Given the description of an element on the screen output the (x, y) to click on. 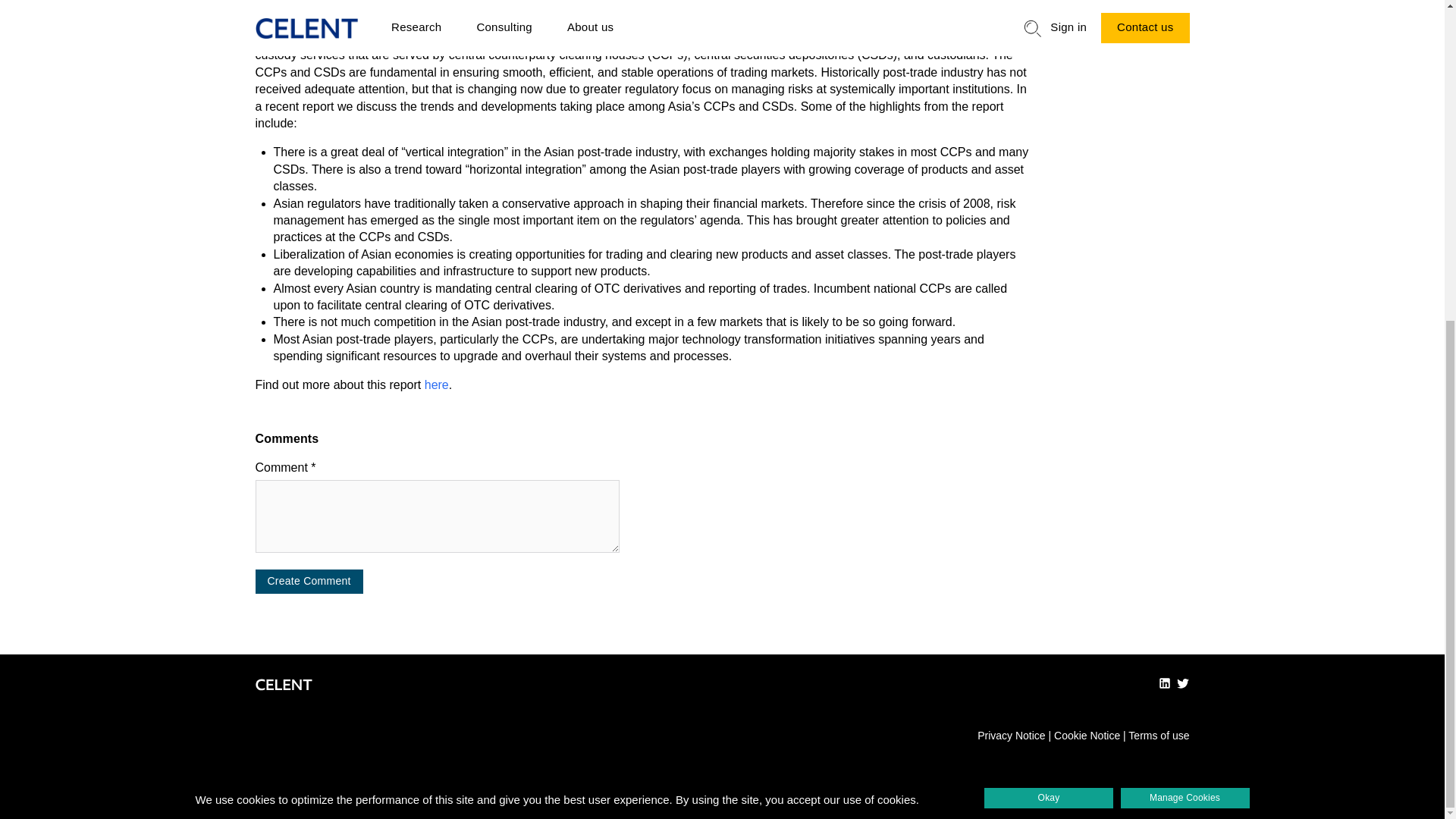
Okay (1048, 278)
Manage Cookies (1185, 278)
Create Comment (308, 581)
